Given the description of an element on the screen output the (x, y) to click on. 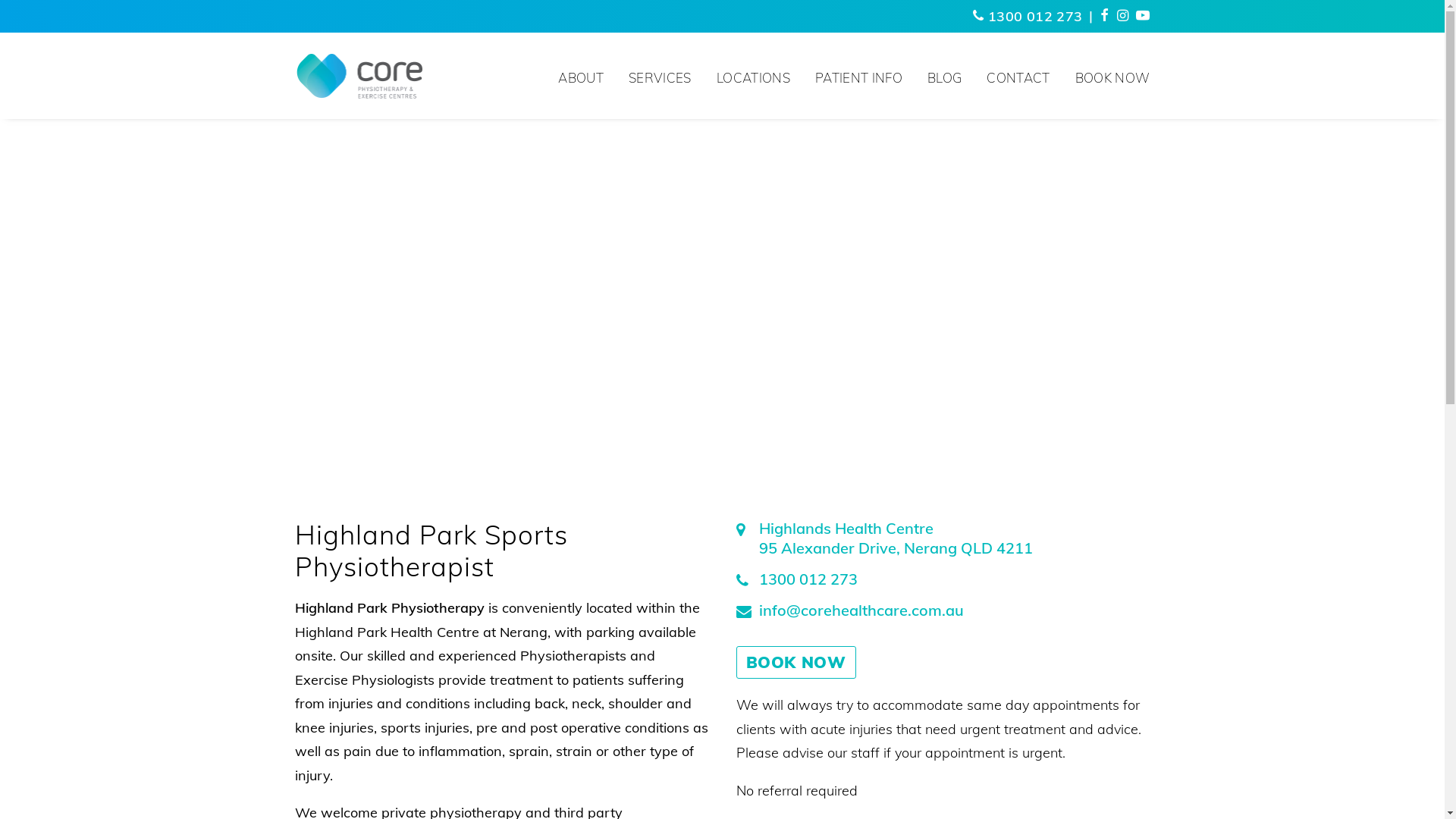
PATIENT INFO Element type: text (858, 75)
info@corehealthcare.com.au Element type: text (942, 610)
BLOG Element type: text (944, 75)
Highlands Health Centre
95 Alexander Drive, Nerang QLD 4211 Element type: text (942, 538)
BOOK NOW Element type: text (1107, 75)
CONTACT Element type: text (1017, 75)
1300 012 273 Element type: text (942, 579)
LOCATIONS Element type: text (753, 75)
ABOUT Element type: text (586, 75)
SERVICES Element type: text (660, 75)
1300 012 273 Element type: text (1027, 16)
BOOK NOW Element type: text (795, 662)
